Given the description of an element on the screen output the (x, y) to click on. 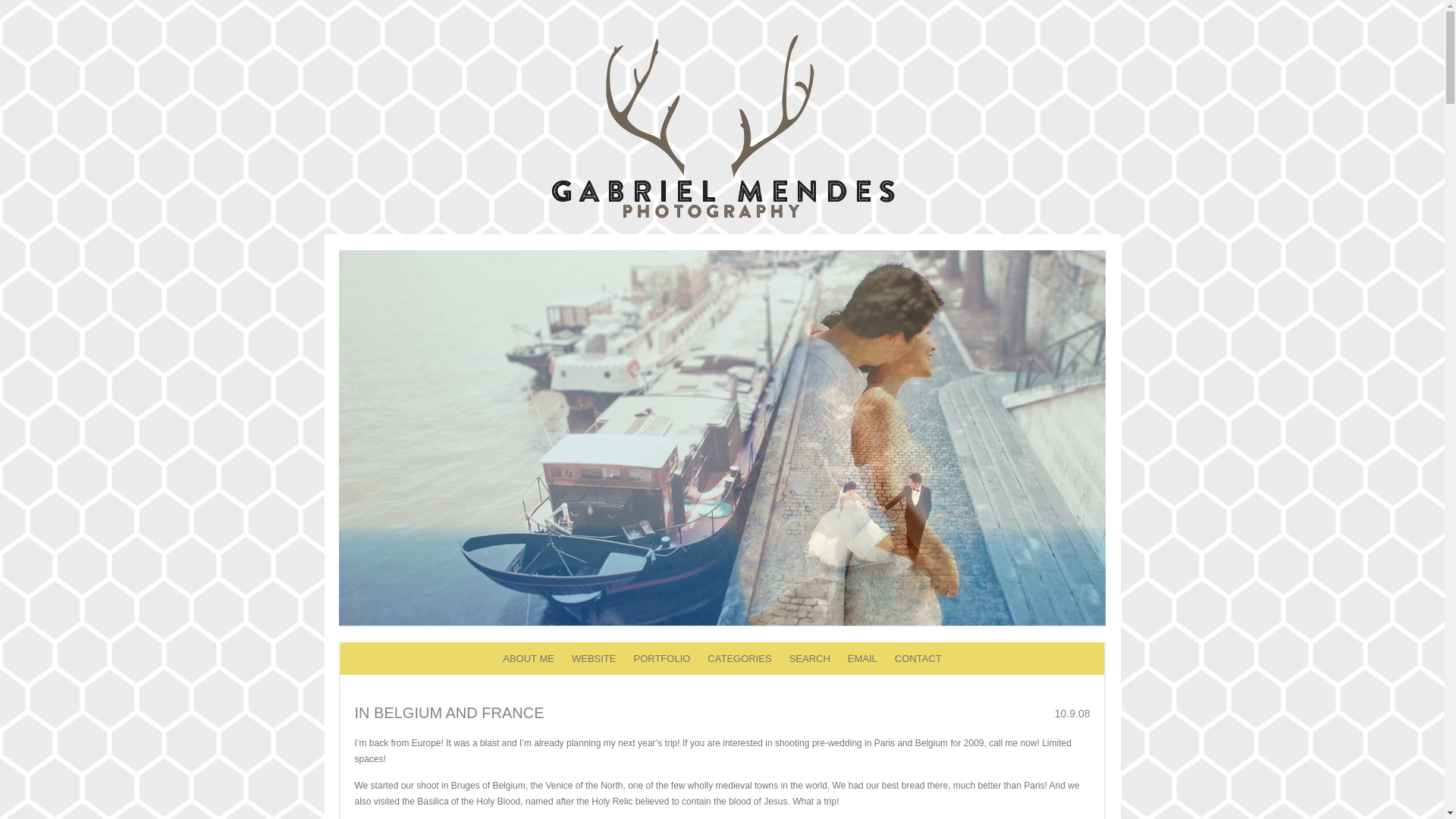
EMAIL (862, 658)
ABOUT ME (528, 658)
WEBSITE (593, 658)
CONTACT (918, 658)
PORTFOLIO (661, 658)
CATEGORIES (739, 658)
SEARCH (809, 658)
Gabriel Mendes Blog (721, 217)
